Given the description of an element on the screen output the (x, y) to click on. 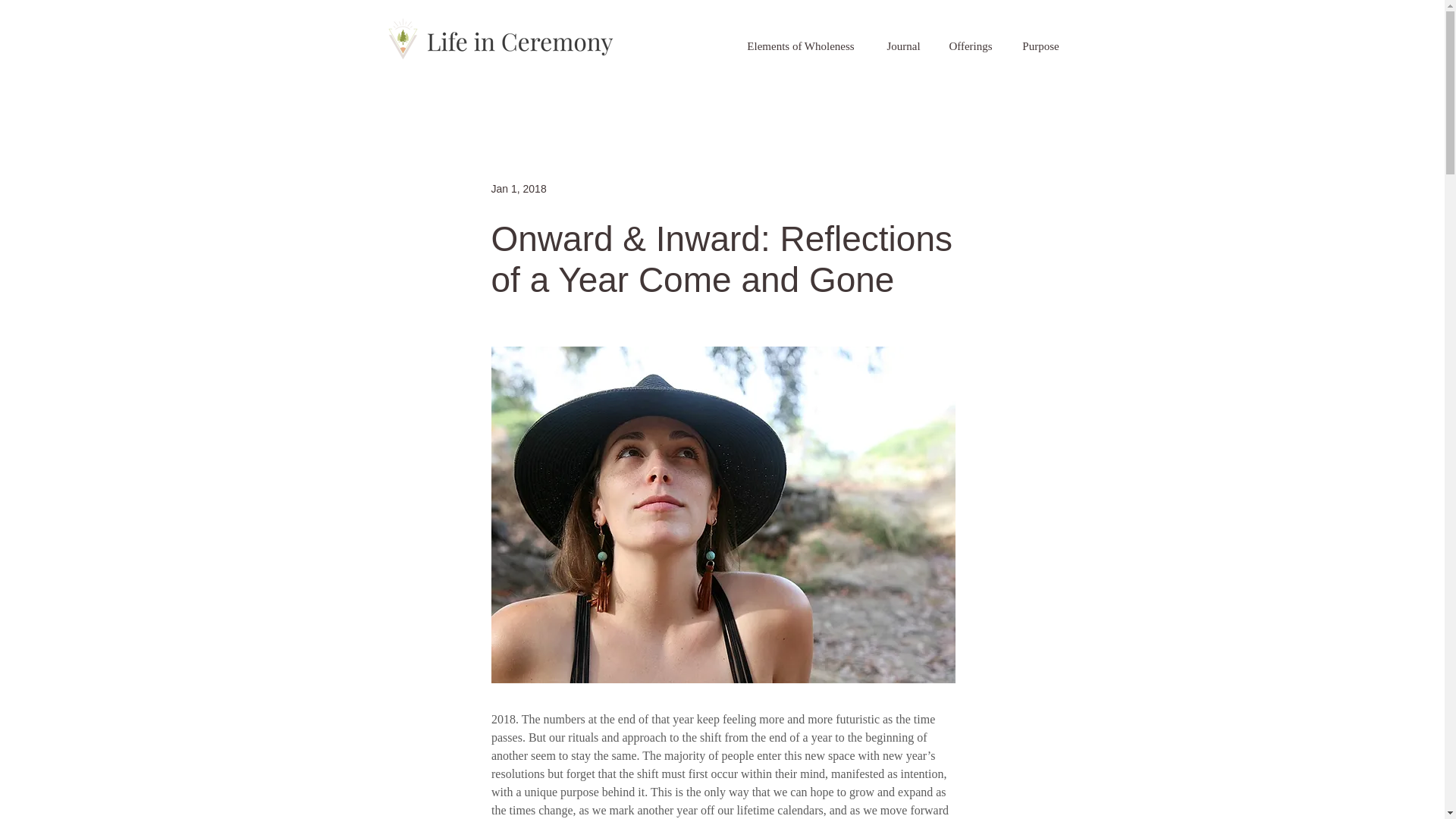
Journal (902, 46)
Jan 1, 2018 (519, 187)
Purpose (1040, 46)
Elements of Wholeness (800, 46)
